Given the description of an element on the screen output the (x, y) to click on. 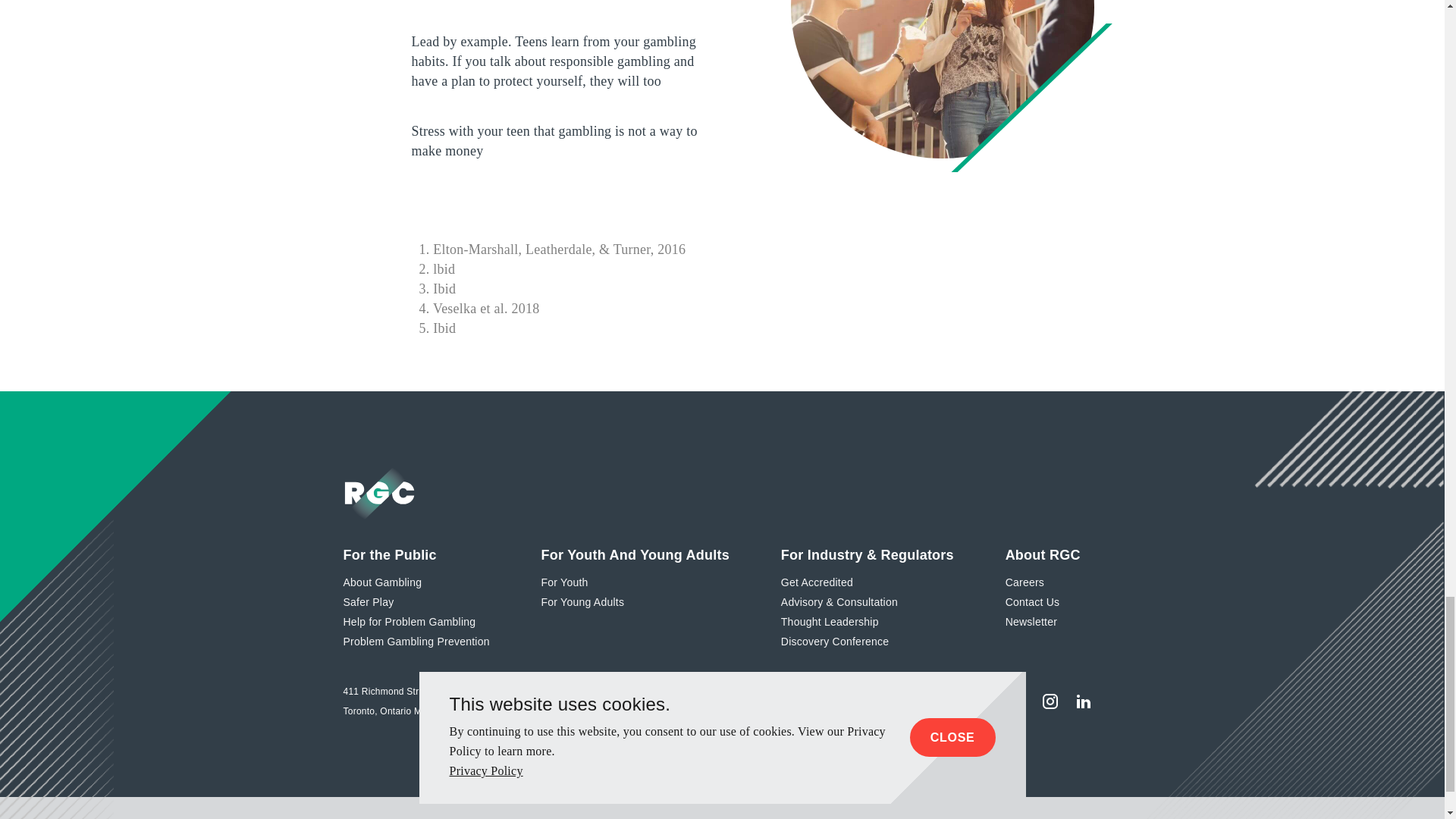
RGC Twitter (1014, 701)
RGC Facebook (983, 701)
RGC LinkedIn (1082, 701)
RGC Instagram (1048, 701)
Home (378, 492)
